Given the description of an element on the screen output the (x, y) to click on. 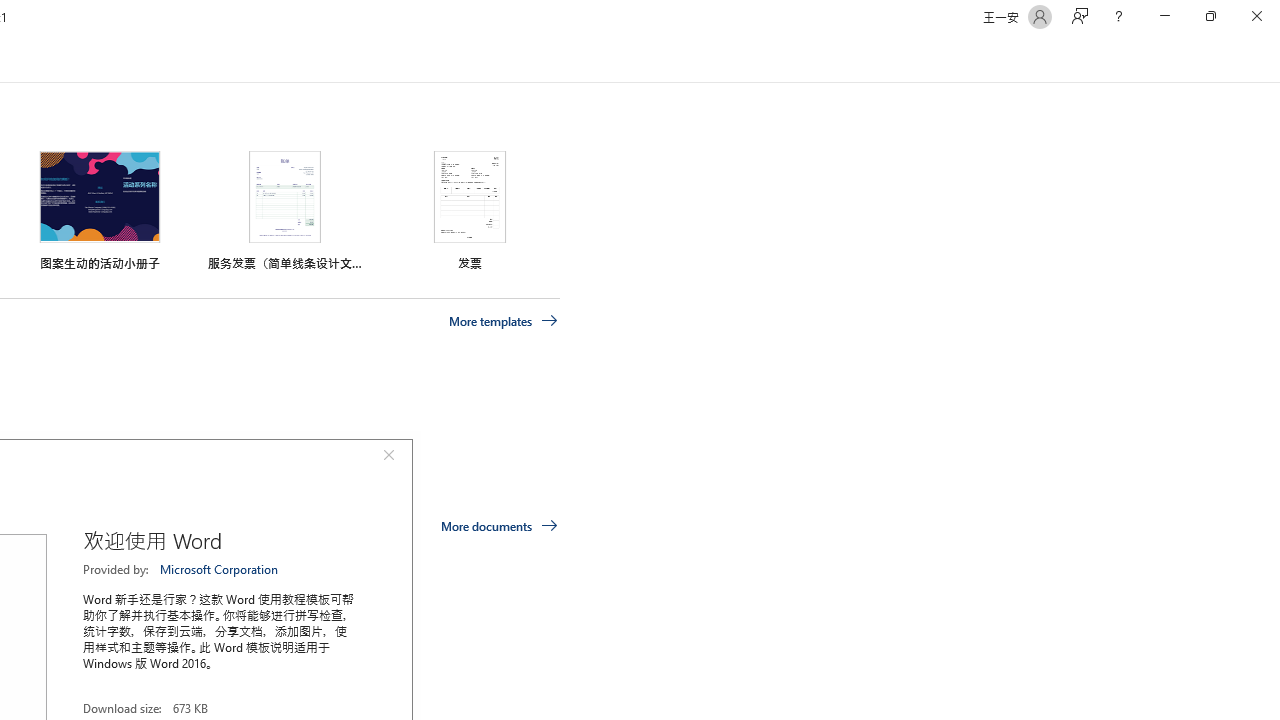
Microsoft Corporation (220, 569)
Class: NetUIScrollBar (1271, 59)
More documents (499, 525)
More templates (503, 321)
